Given the description of an element on the screen output the (x, y) to click on. 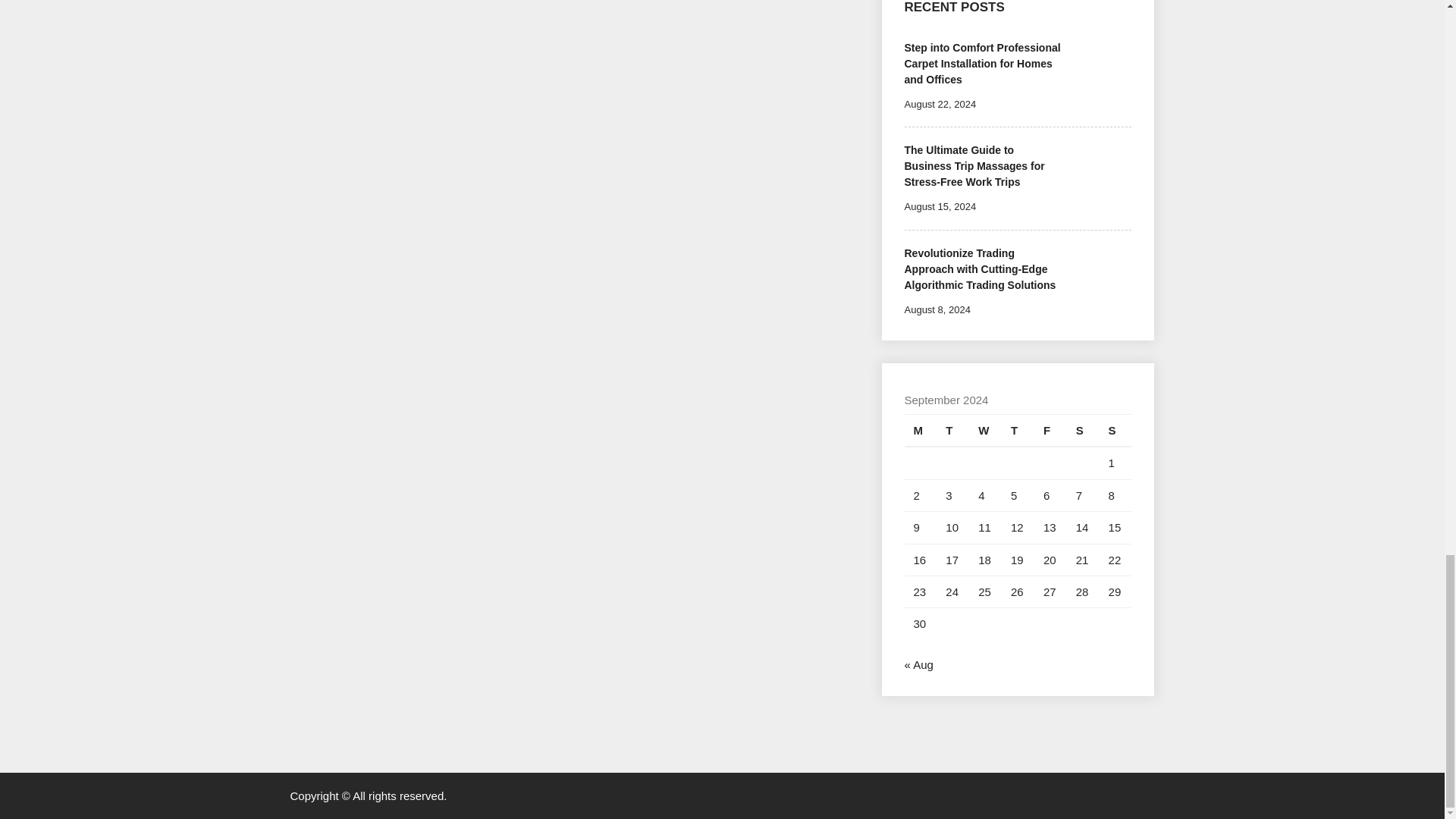
Thursday (1017, 430)
Wednesday (985, 430)
Saturday (1083, 430)
Sunday (1115, 430)
Friday (1050, 430)
Monday (920, 430)
Tuesday (952, 430)
